Given the description of an element on the screen output the (x, y) to click on. 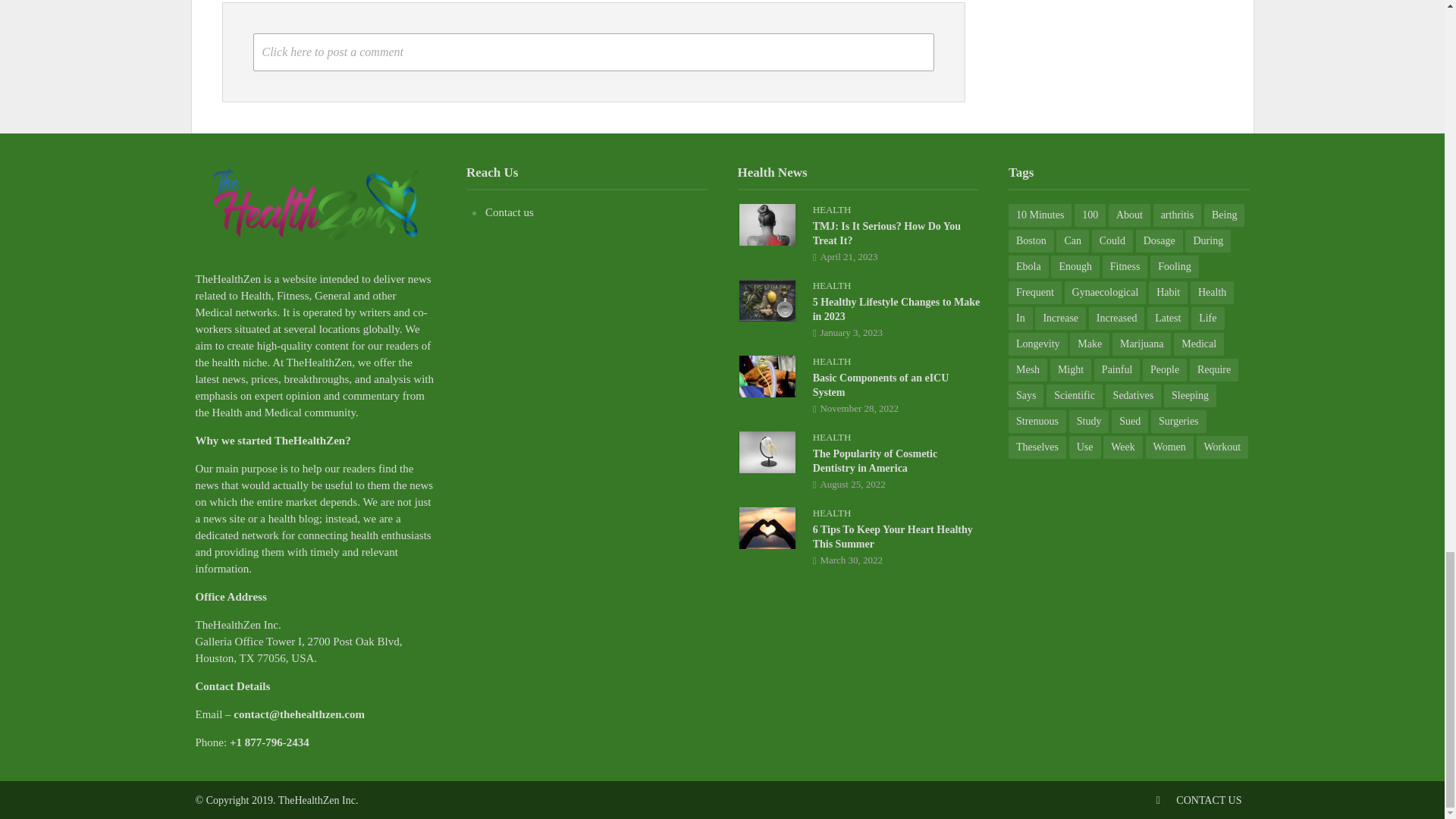
The Popularity of Cosmetic Dentistry in America (766, 451)
TMJ: Is It Serious? How Do You Treat It? (766, 223)
6 Tips To Keep Your Heart Healthy This Summer (766, 526)
Basic Components of an eICU System (766, 375)
5 Healthy Lifestyle Changes to Make in 2023 (766, 299)
